Given the description of an element on the screen output the (x, y) to click on. 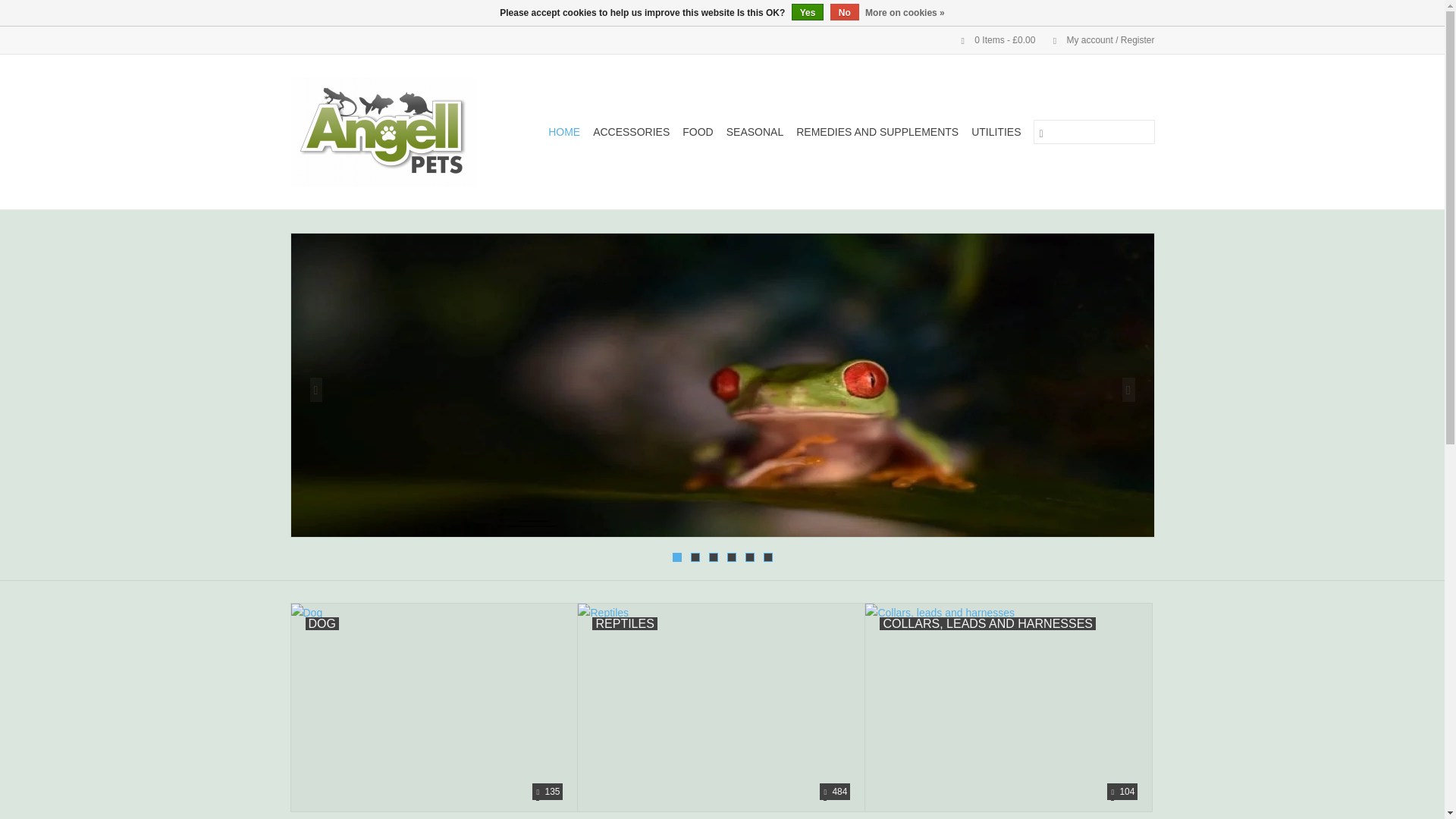
Accessories (631, 131)
Cart (992, 40)
My account (1096, 40)
HOME (564, 131)
Angell Pets family run pet shop and webstore (390, 131)
ACCESSORIES (631, 131)
